Given the description of an element on the screen output the (x, y) to click on. 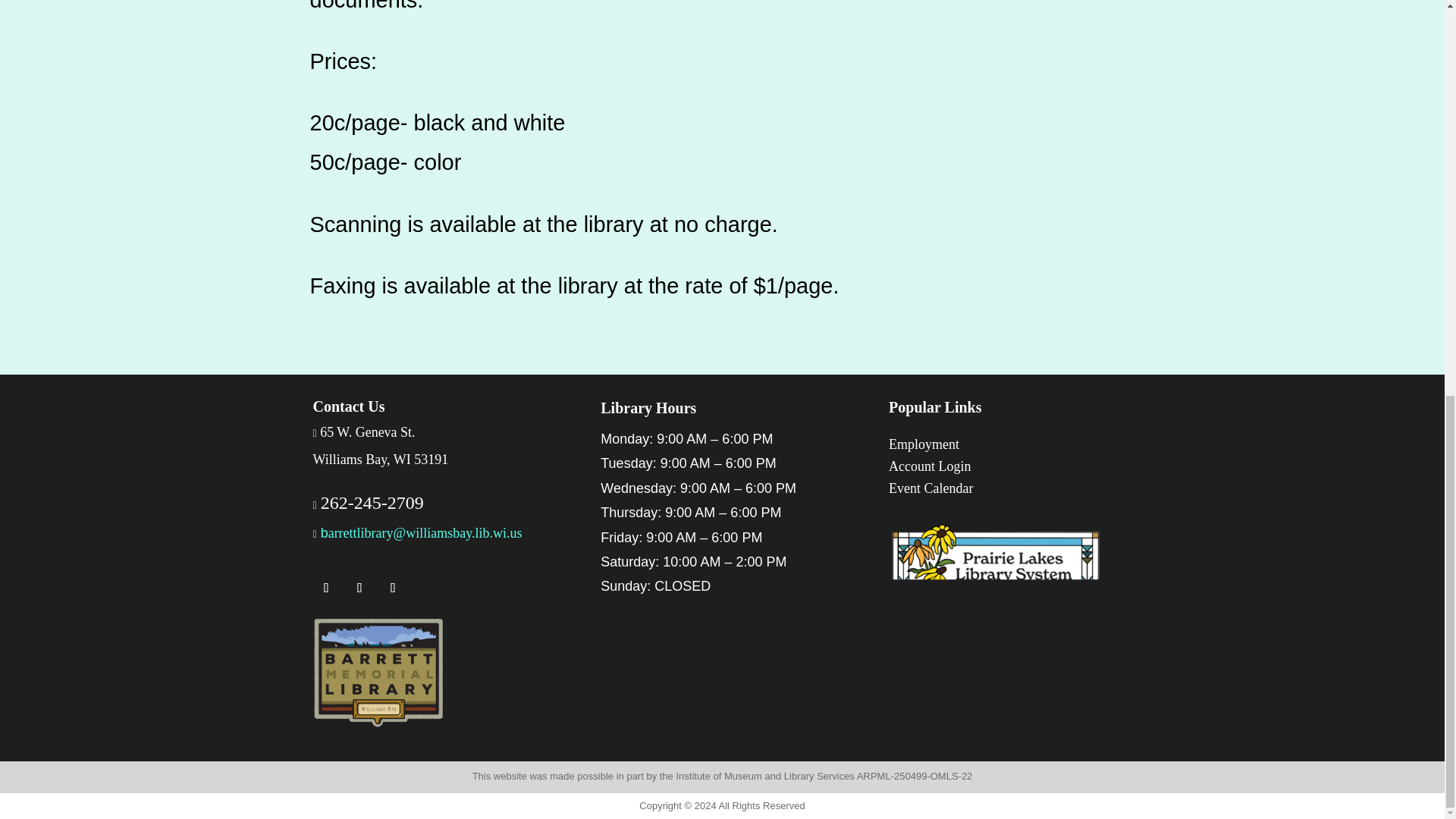
Account Login (929, 466)
Employment (923, 444)
Follow on Facebook (326, 587)
Event Calendar (930, 488)
Follow on Youtube (392, 587)
bml-logo-transparent (378, 672)
prairie-lakes-lbs-logo (995, 565)
Follow on Instagram (359, 587)
